Given the description of an element on the screen output the (x, y) to click on. 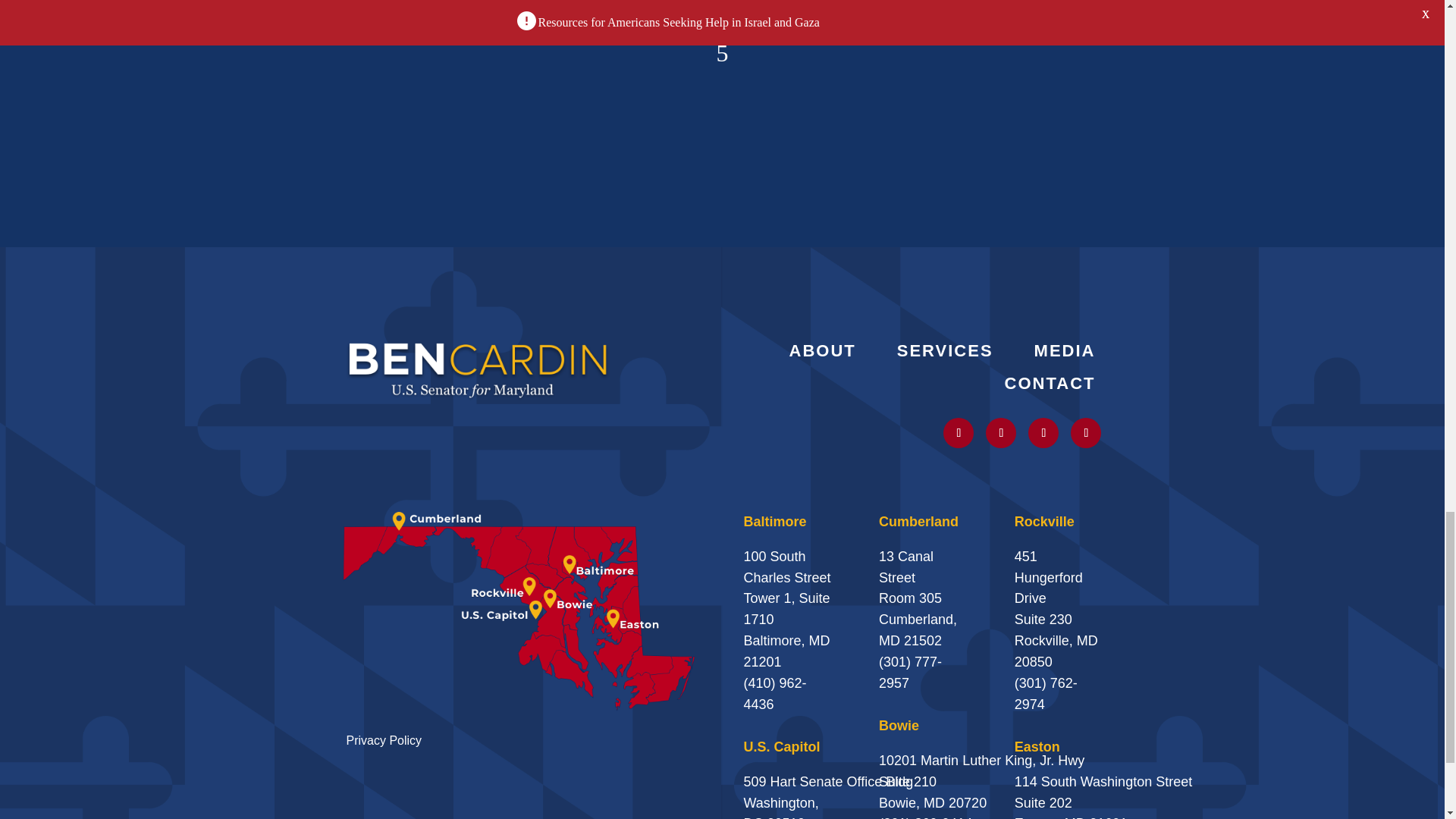
Follow on Facebook (1085, 432)
Follow on X (958, 432)
Follow on Instagram (1000, 432)
Privacy Policy (384, 739)
Footer (478, 368)
Follow on Youtube (1042, 432)
